Given the description of an element on the screen output the (x, y) to click on. 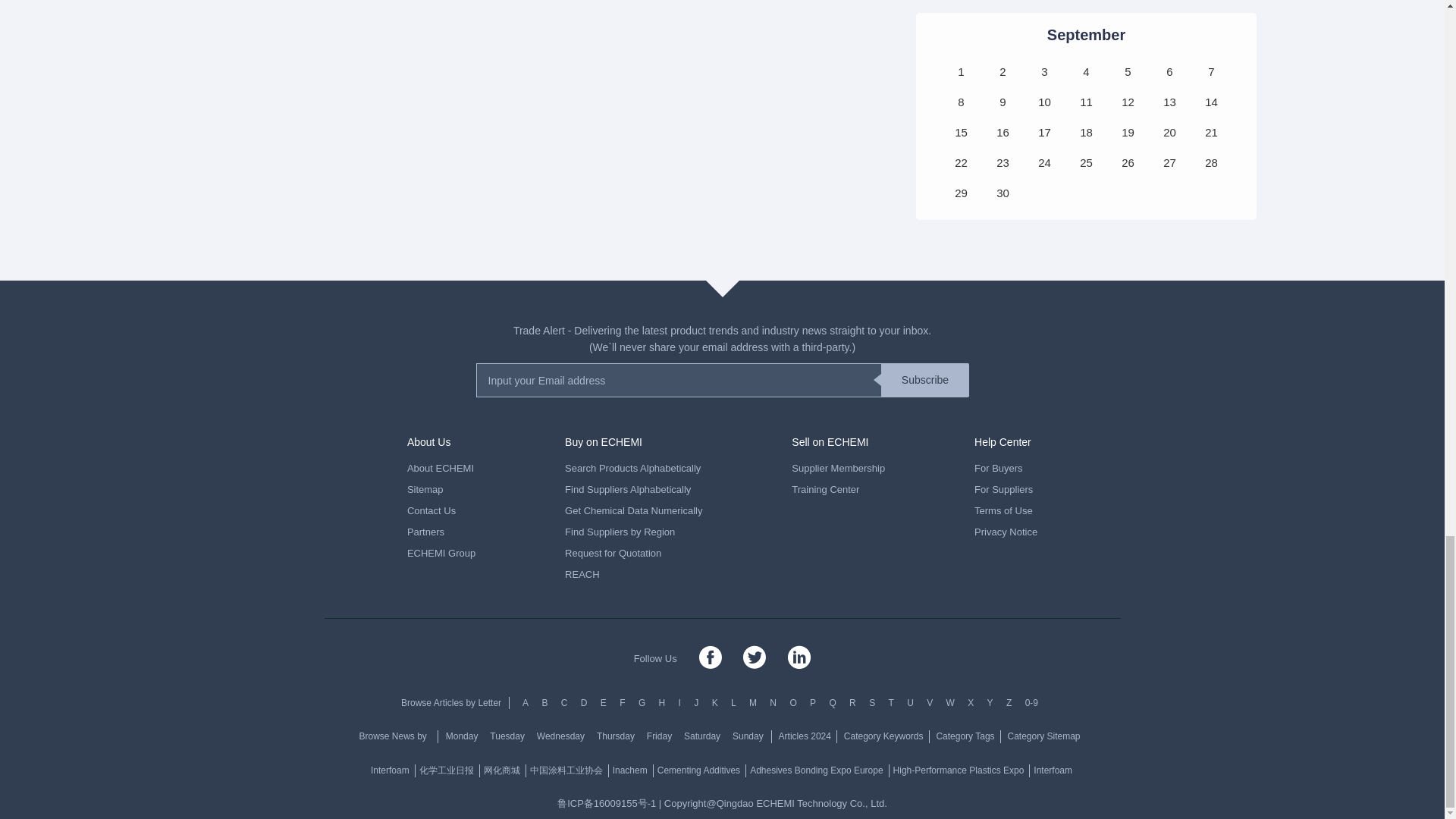
3 September, 2024 (1043, 71)
10 September, 2024 (1043, 101)
17 September, 2024 (1043, 132)
8 September, 2024 (960, 101)
16 September, 2024 (1002, 132)
12 September, 2024 (1127, 101)
2 September, 2024 (1002, 71)
7 September, 2024 (1211, 71)
15 September, 2024 (960, 132)
11 September, 2024 (1085, 101)
